Given the description of an element on the screen output the (x, y) to click on. 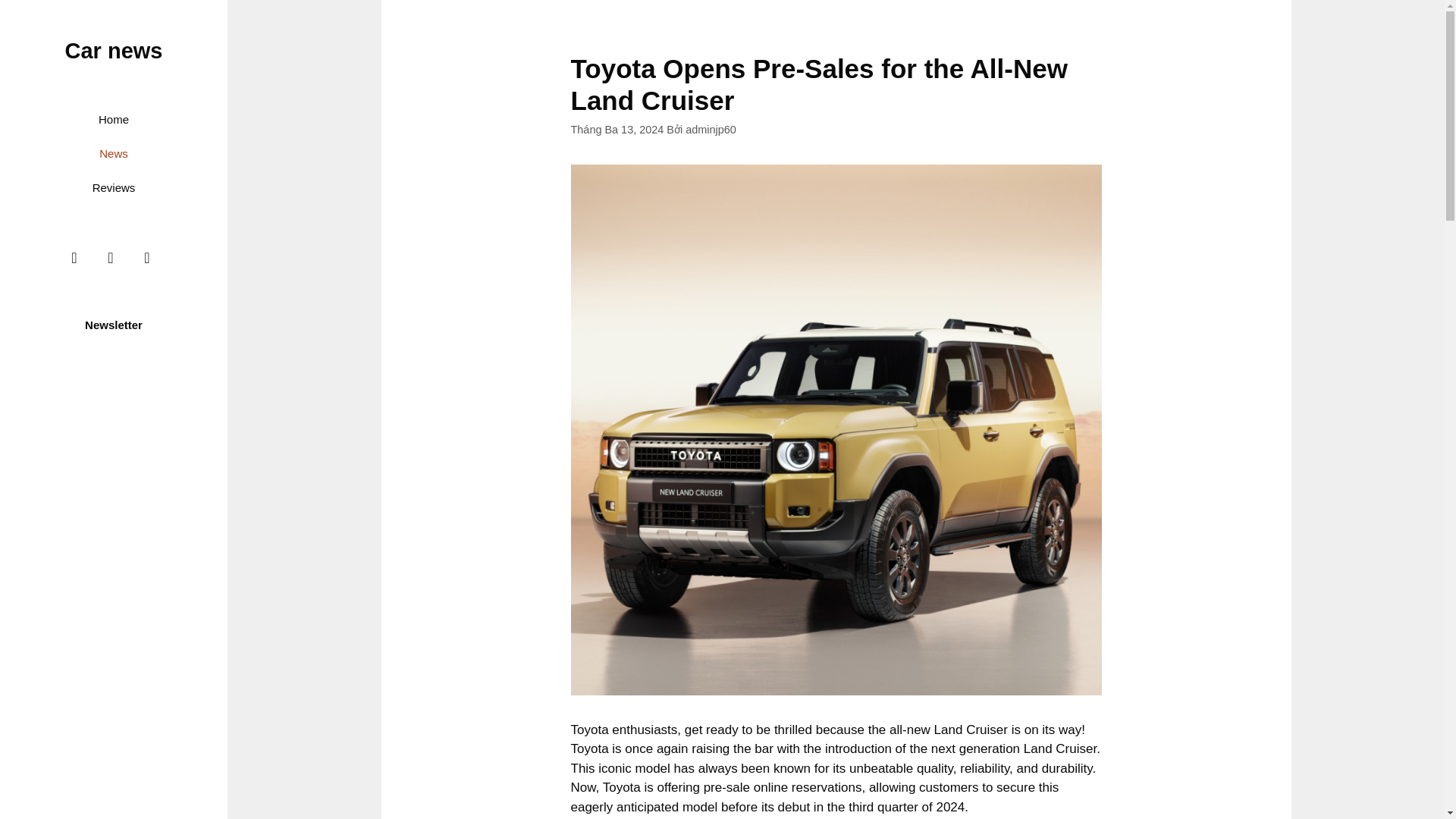
adminjp60 (710, 129)
Reviews (114, 187)
Home (113, 119)
Twitter (146, 257)
News (113, 153)
Facebook (73, 257)
Car news (114, 50)
Instagram (110, 257)
